Given the description of an element on the screen output the (x, y) to click on. 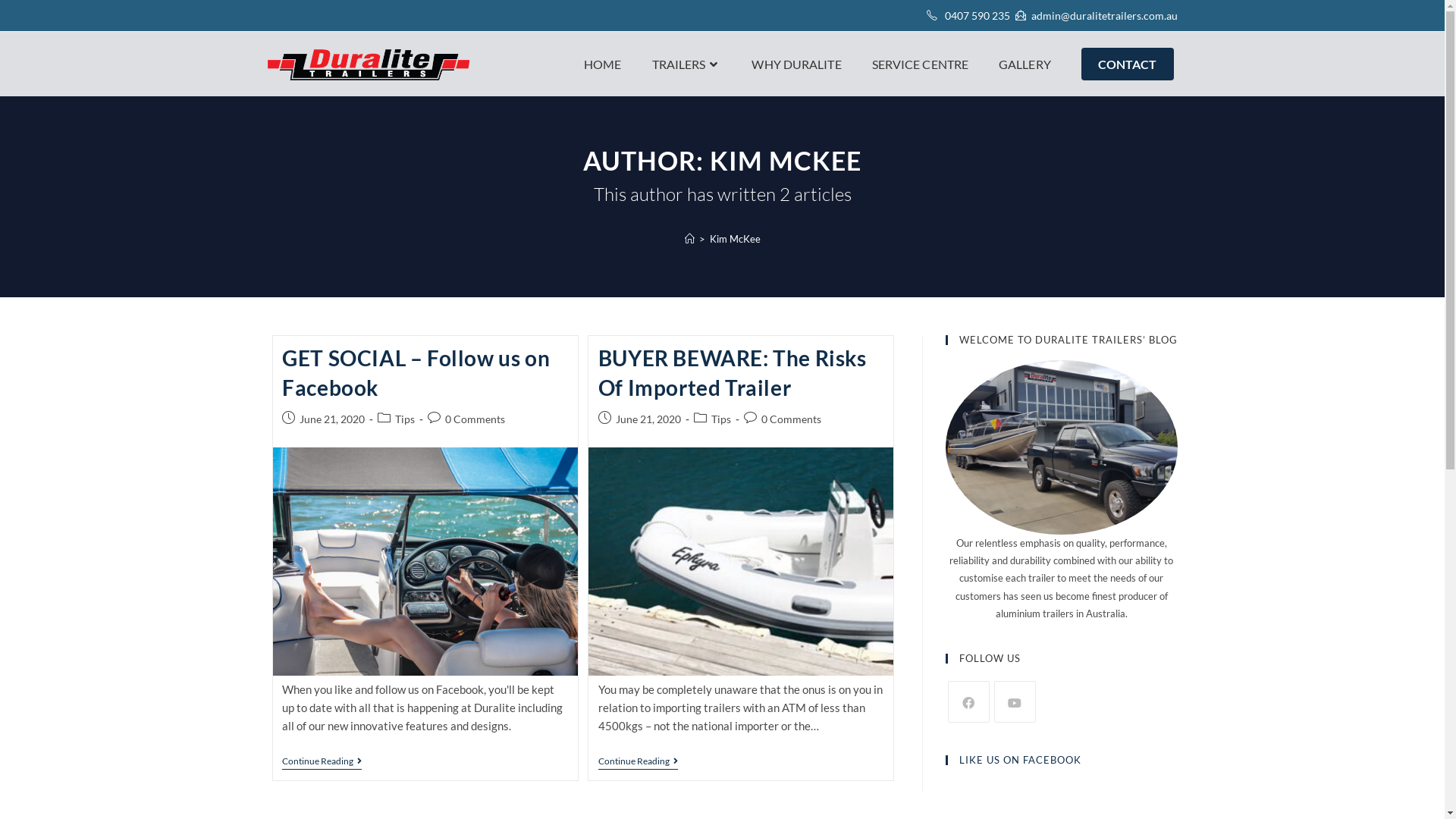
LIKE US ON FACEBOOK Element type: text (1019, 759)
GALLERY Element type: text (1024, 63)
Tips Element type: text (721, 418)
Continue Reading Element type: text (637, 762)
Tips Element type: text (404, 418)
0 Comments Element type: text (791, 418)
BUYER BEWARE: The Risks Of Imported Trailer Element type: text (732, 372)
CONTACT Element type: text (1127, 63)
0407 590 235 Element type: text (977, 15)
HOME Element type: text (602, 63)
TRAILERS Element type: text (687, 63)
0 Comments Element type: text (475, 418)
WHY DURALITE Element type: text (796, 63)
SERVICE CENTRE Element type: text (919, 63)
admin@duralitetrailers.com.au Element type: text (1104, 15)
Kim McKee Element type: text (734, 238)
Continue Reading Element type: text (321, 762)
